Given the description of an element on the screen output the (x, y) to click on. 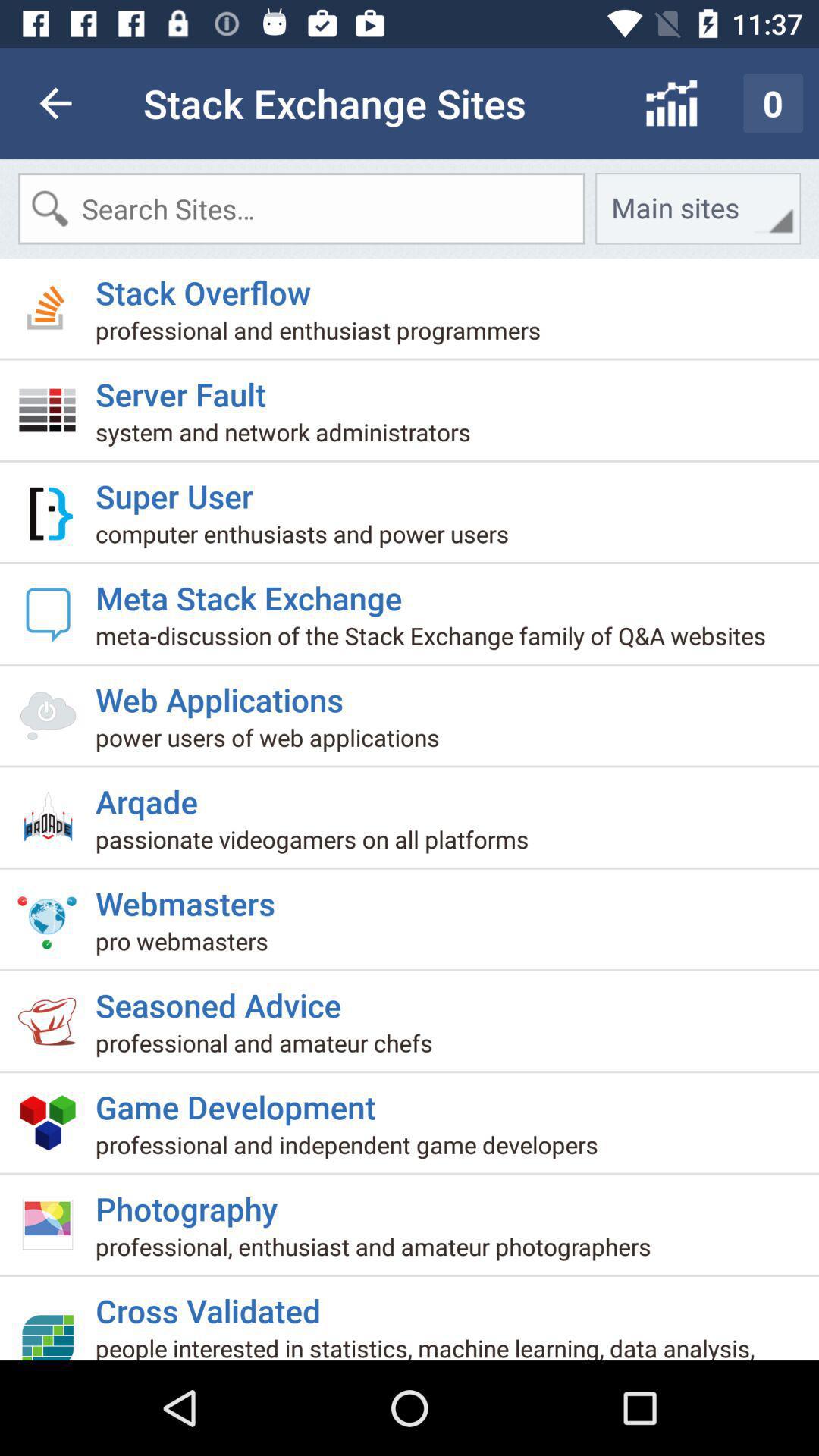
jump to the arqade icon (152, 794)
